Given the description of an element on the screen output the (x, y) to click on. 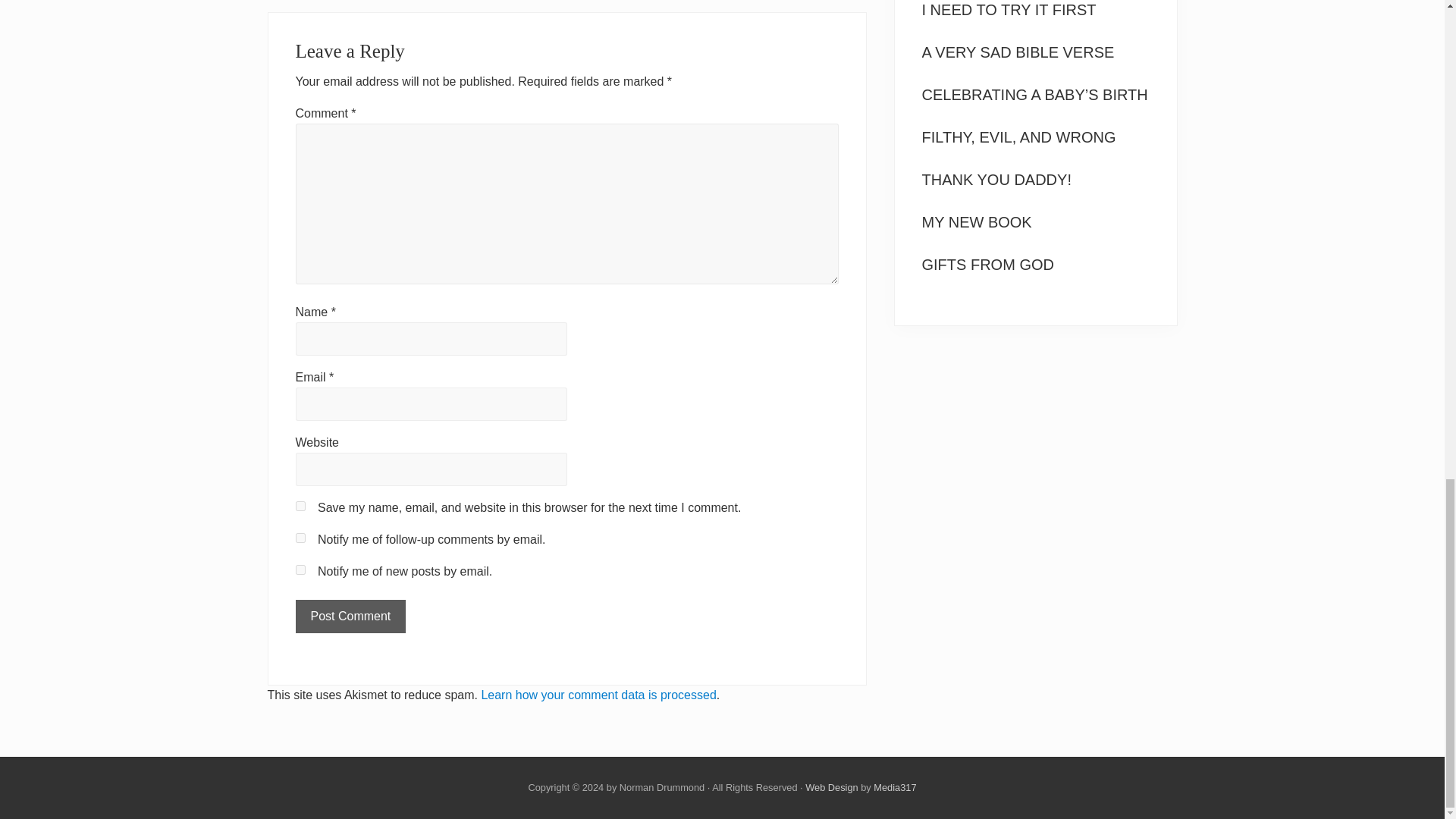
Web Design (831, 787)
subscribe (300, 537)
I NEED TO TRY IT FIRST (1008, 9)
Learn how your comment data is processed (598, 694)
yes (300, 506)
A VERY SAD BIBLE VERSE (1018, 52)
Media317 (894, 787)
subscribe (300, 569)
Post Comment (350, 616)
Post Comment (350, 616)
